Given the description of an element on the screen output the (x, y) to click on. 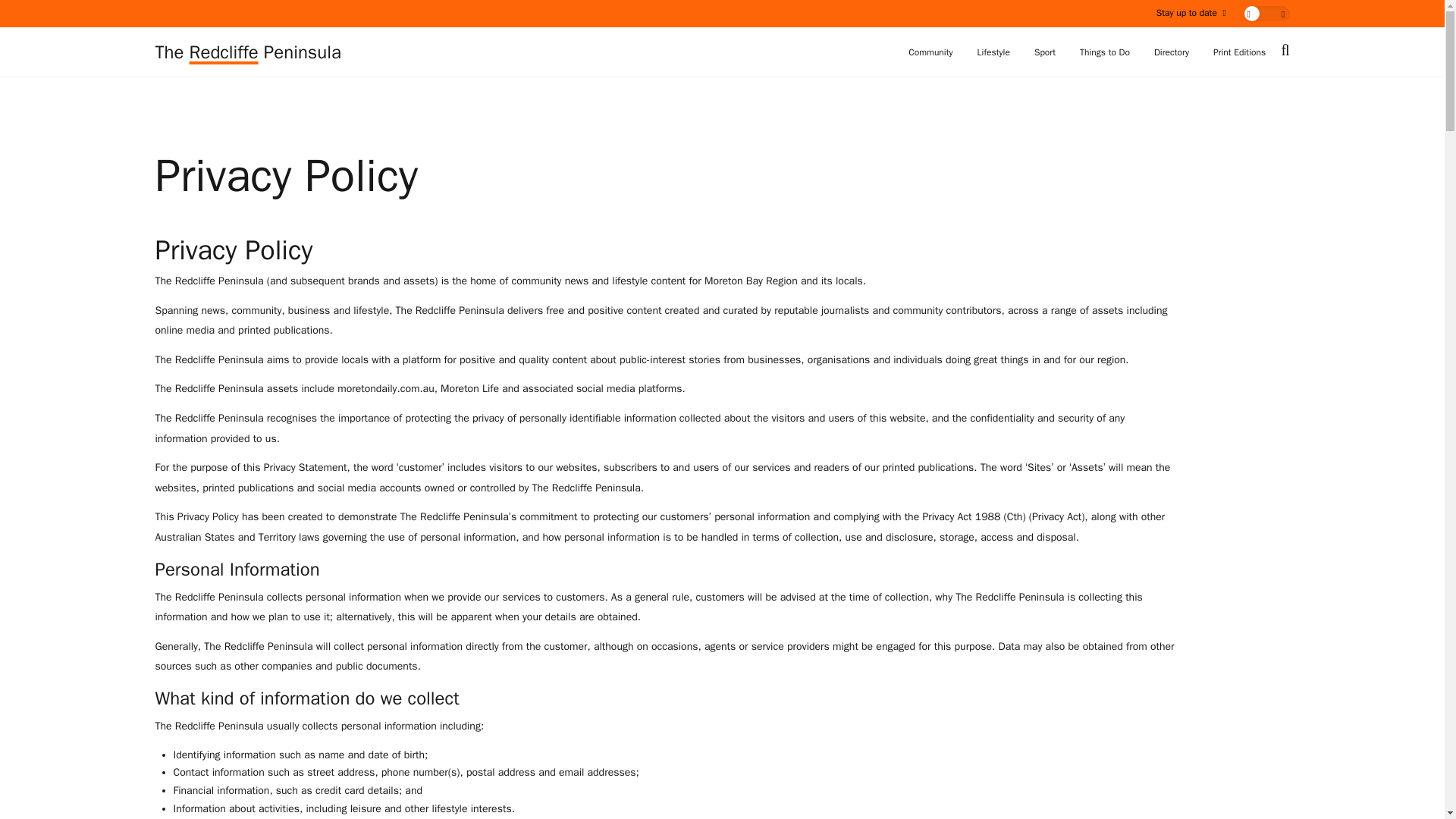
Things to Do (1104, 52)
Sport (1044, 52)
Stay up to date (1190, 12)
Print Editions (1239, 52)
Community (930, 52)
The Redcliffe Peninsula (247, 51)
Lifestyle (993, 52)
Directory (1171, 52)
